Given the description of an element on the screen output the (x, y) to click on. 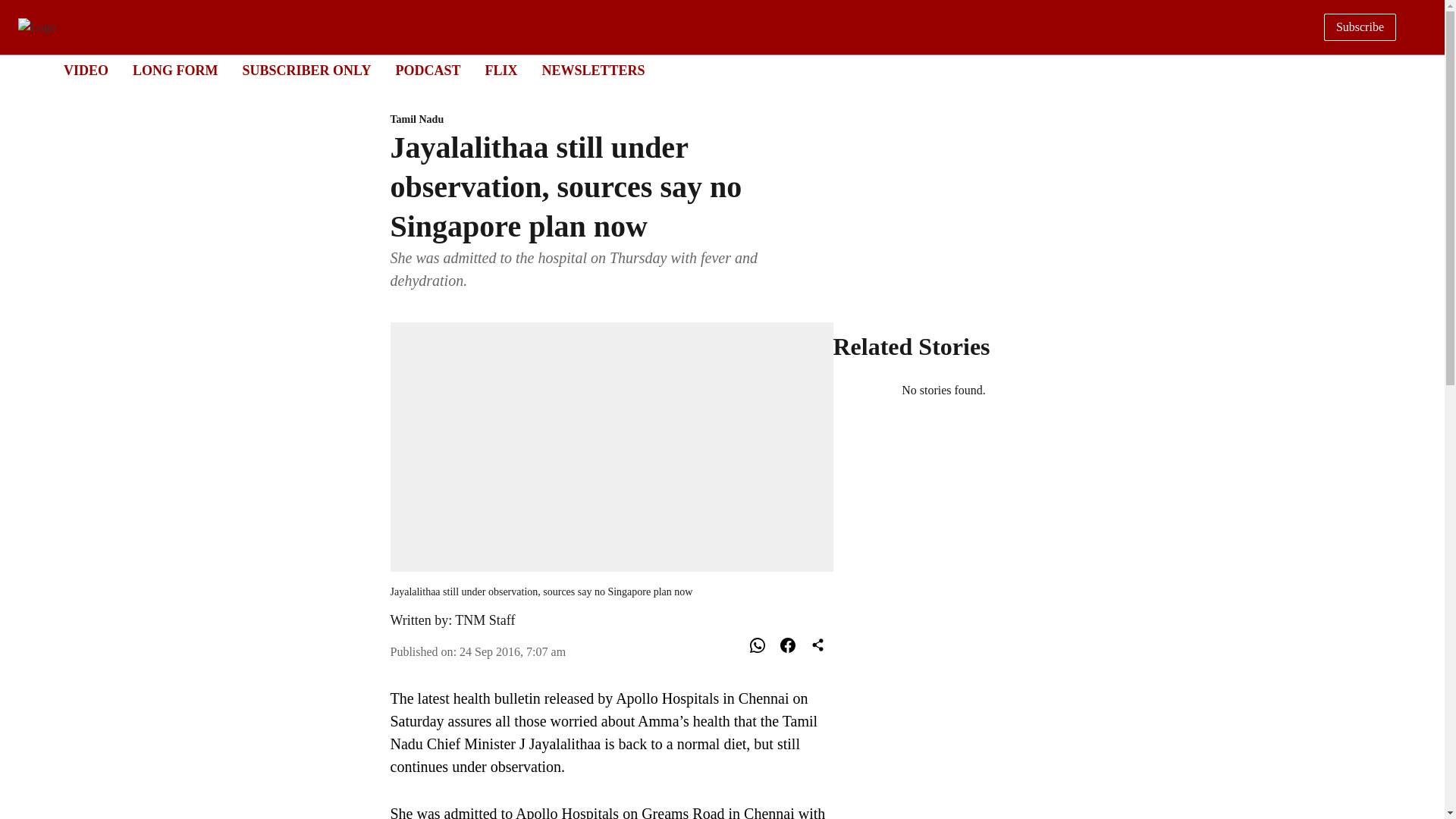
FLIX (500, 70)
NEWSLETTERS (593, 70)
LONG FORM (175, 70)
PODCAST (427, 70)
SUBSCRIBER ONLY (307, 70)
VIDEO (85, 70)
Tamil Nadu (611, 119)
TNM Staff (707, 70)
2016-09-24 07:07 (484, 620)
